Given the description of an element on the screen output the (x, y) to click on. 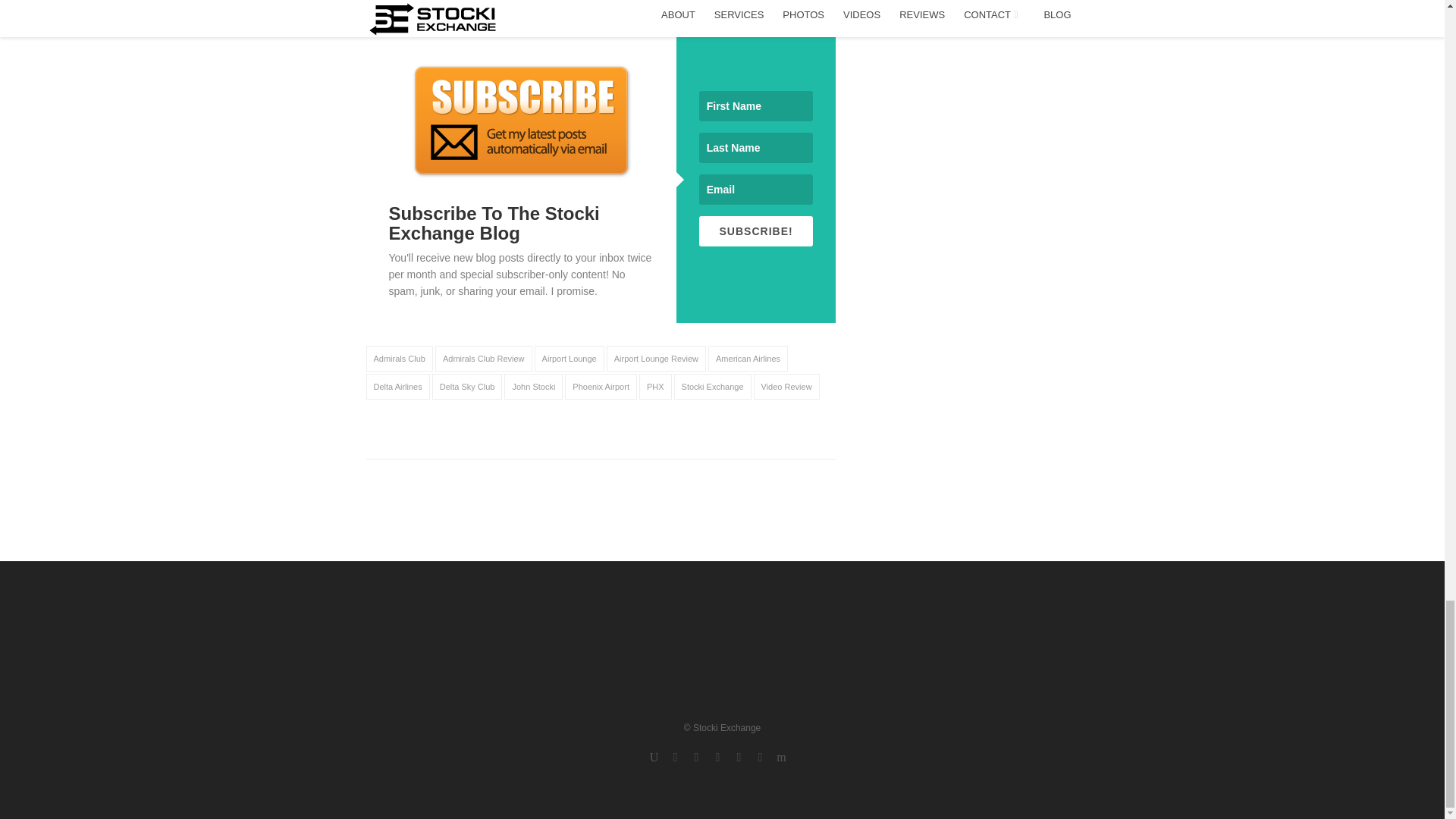
John Stocki (532, 386)
Admirals Club (398, 358)
Delta Sky Club (467, 386)
Admirals Club Review (483, 358)
SUBSCRIBE! (755, 231)
Phoenix Airport (600, 386)
Home (767, 659)
American Airlines (747, 358)
Airport Lounge Review (656, 358)
PHX (655, 386)
